Given the description of an element on the screen output the (x, y) to click on. 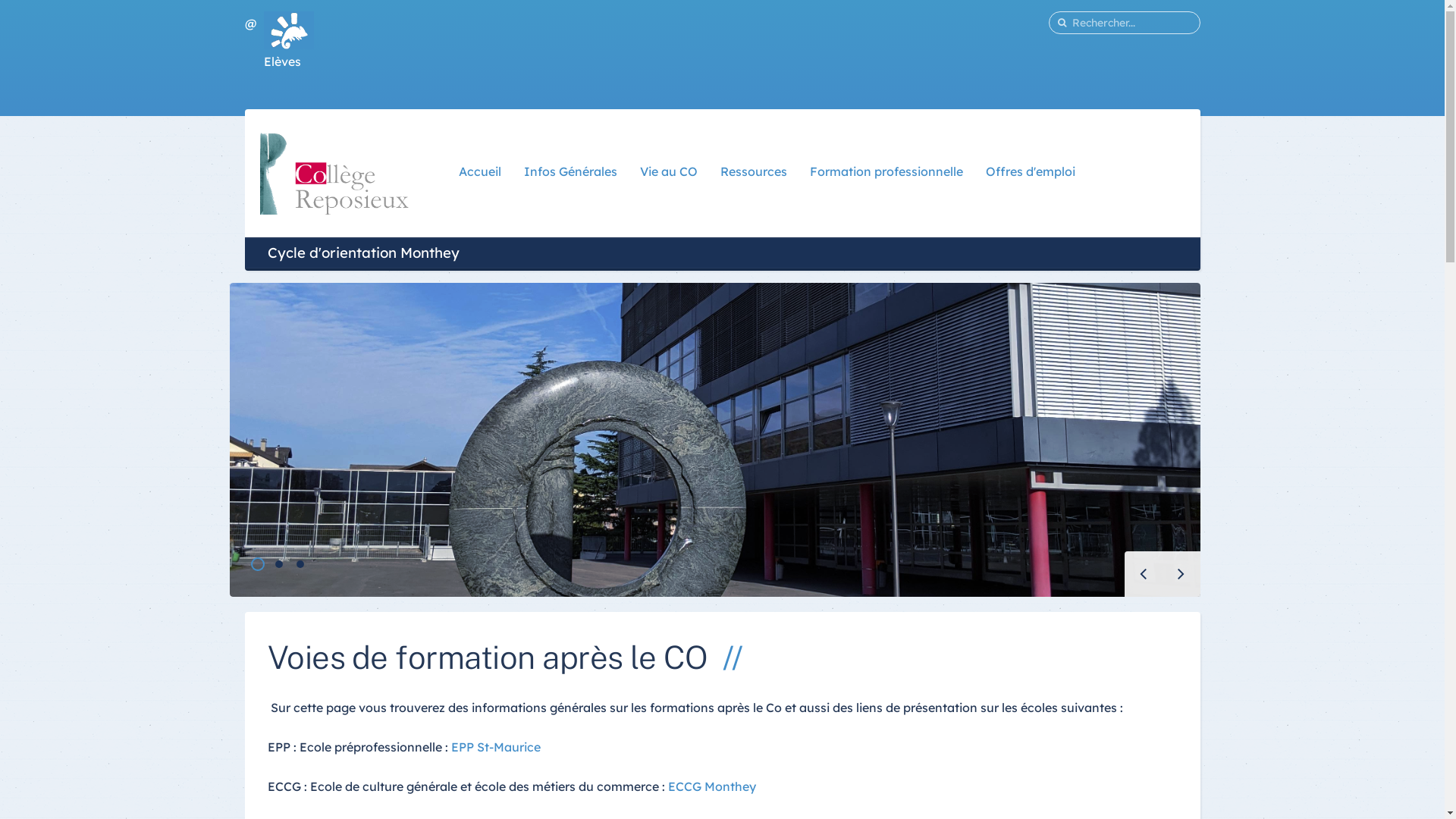
EPP St-Maurice Element type: text (494, 746)
LogoCO Element type: hover (333, 171)
Formation professionnelle Element type: text (886, 171)
Offres d'emploi Element type: text (1030, 171)
Ressources Element type: text (753, 171)
@ Element type: text (249, 23)
Accueil Element type: text (479, 171)
ECCG Monthey Element type: text (711, 785)
Vie au CO Element type: text (668, 171)
